Given the description of an element on the screen output the (x, y) to click on. 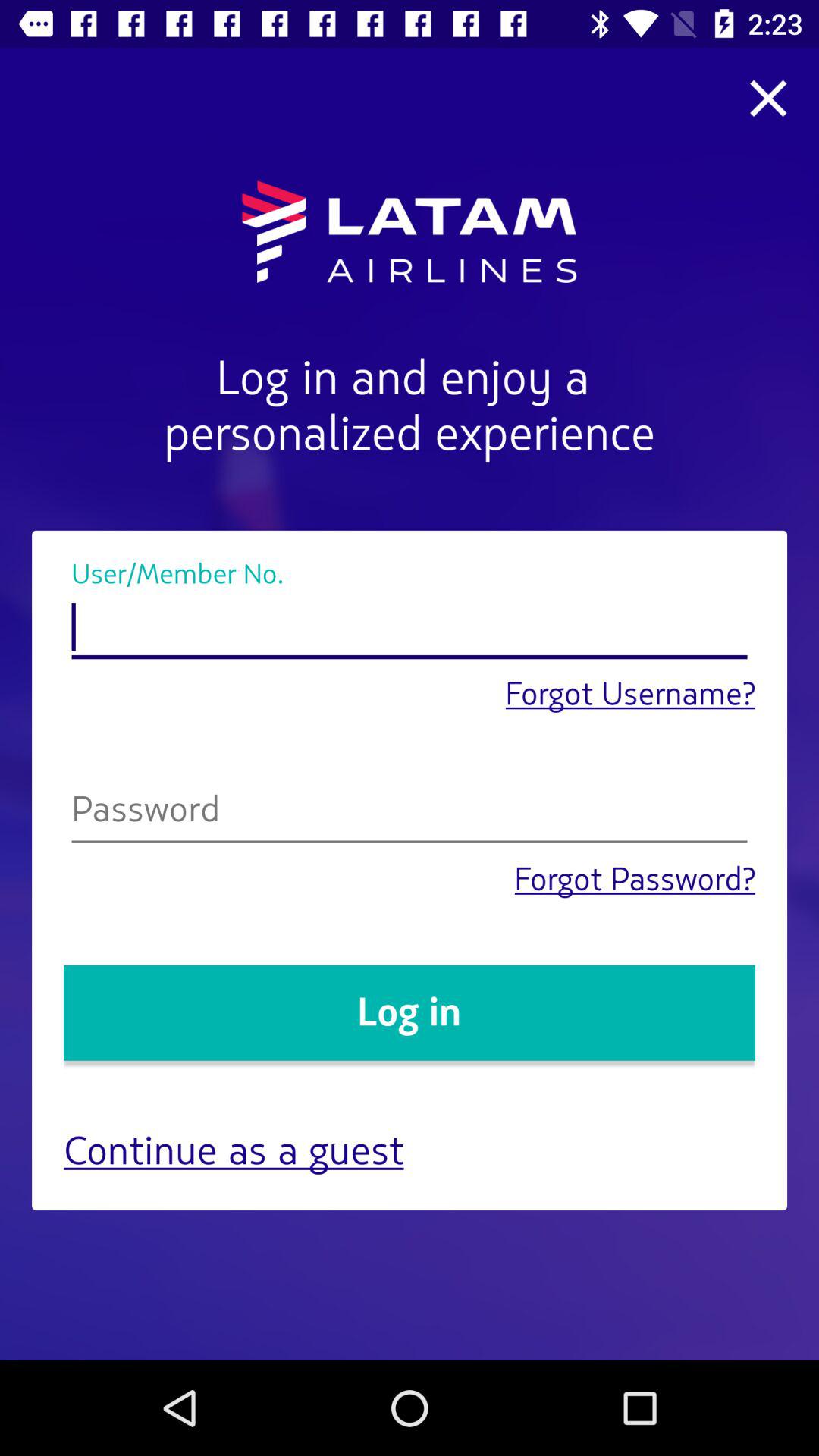
enter user or member number (409, 627)
